Given the description of an element on the screen output the (x, y) to click on. 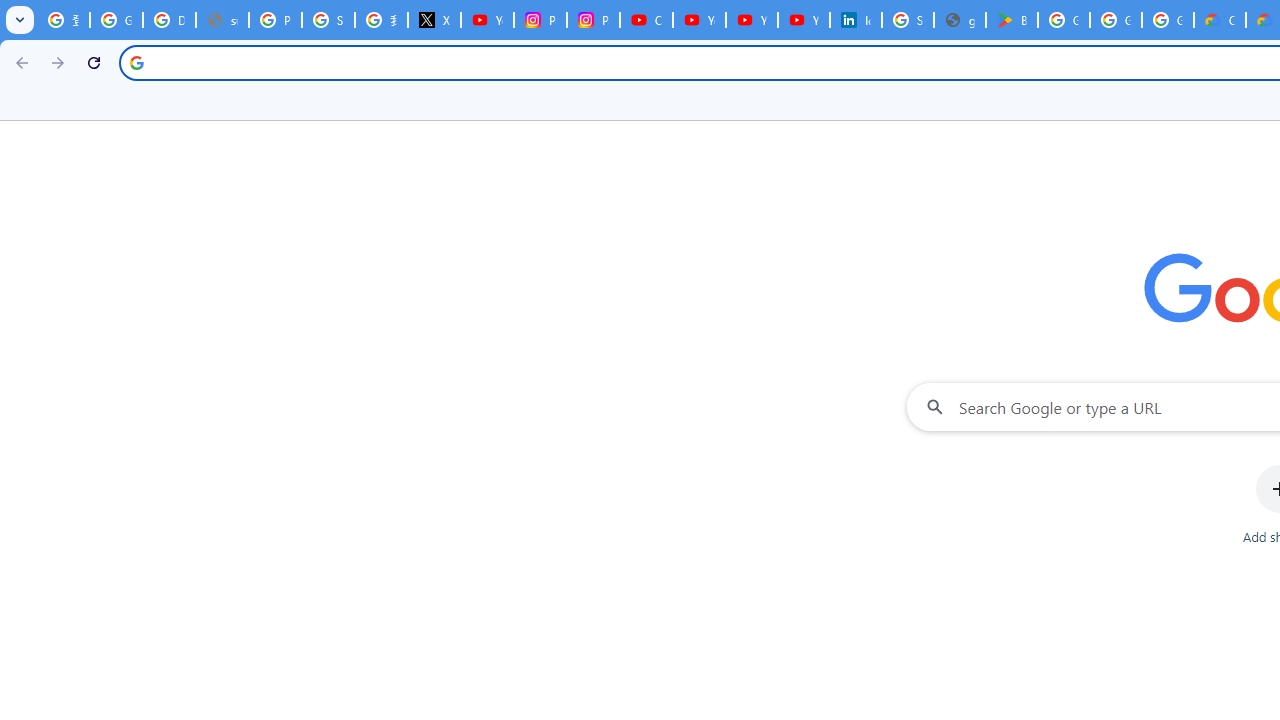
X (434, 20)
Google Workspace - Specific Terms (1167, 20)
Customer Care | Google Cloud (1219, 20)
Sign in - Google Accounts (328, 20)
Search icon (136, 62)
Google Workspace - Specific Terms (1115, 20)
Identity verification via Persona | LinkedIn Help (855, 20)
